Given the description of an element on the screen output the (x, y) to click on. 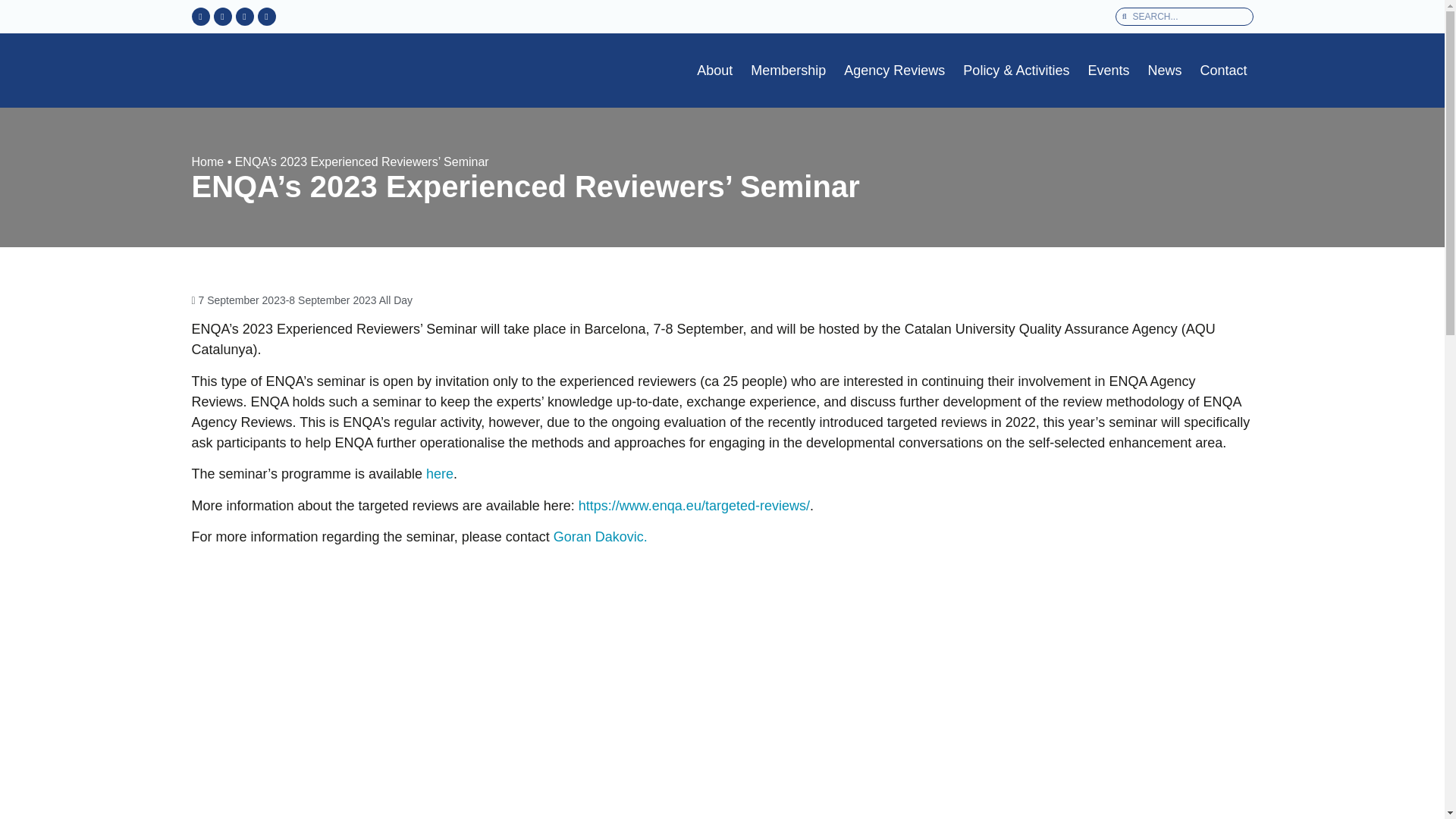
Contact (1222, 70)
Membership (787, 70)
About (714, 70)
News (1164, 70)
Agency Reviews (894, 70)
Events (1108, 70)
